Given the description of an element on the screen output the (x, y) to click on. 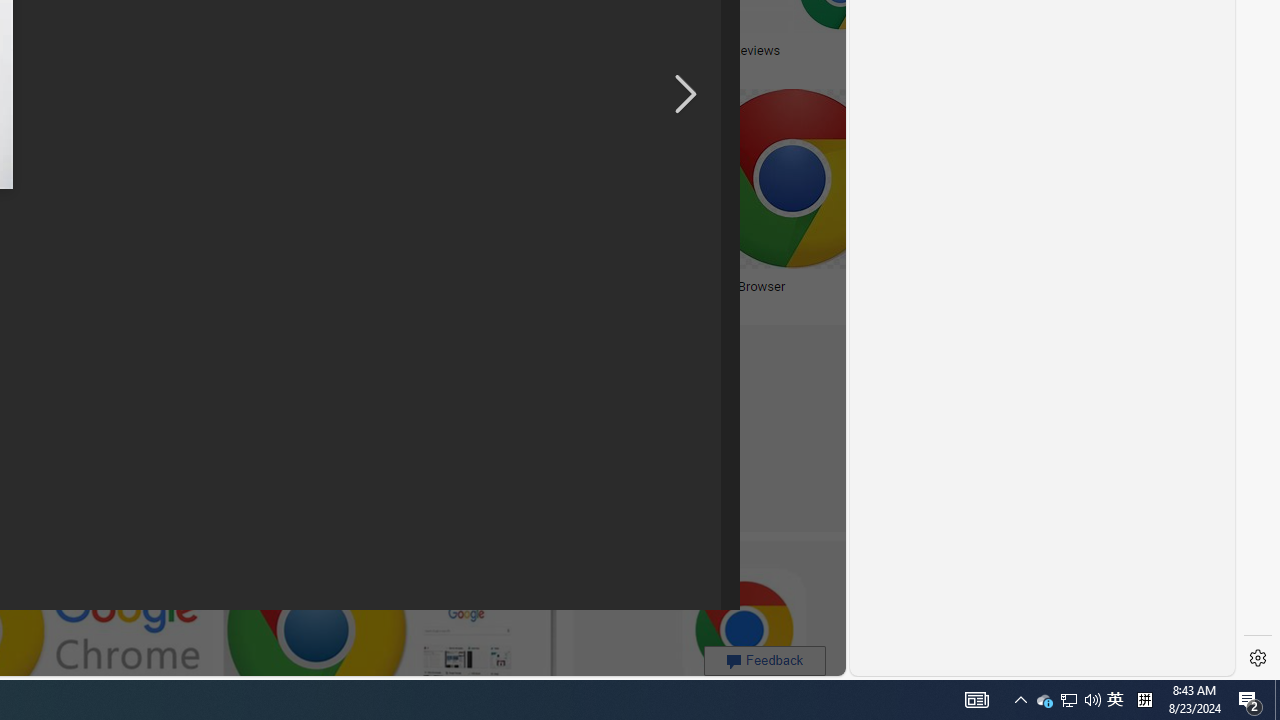
What Is The Fastest Browser To Use With Windows 10 (540, 294)
Lambang Chrome (86, 286)
Chrome BrowserSave (841, 202)
